Given the description of an element on the screen output the (x, y) to click on. 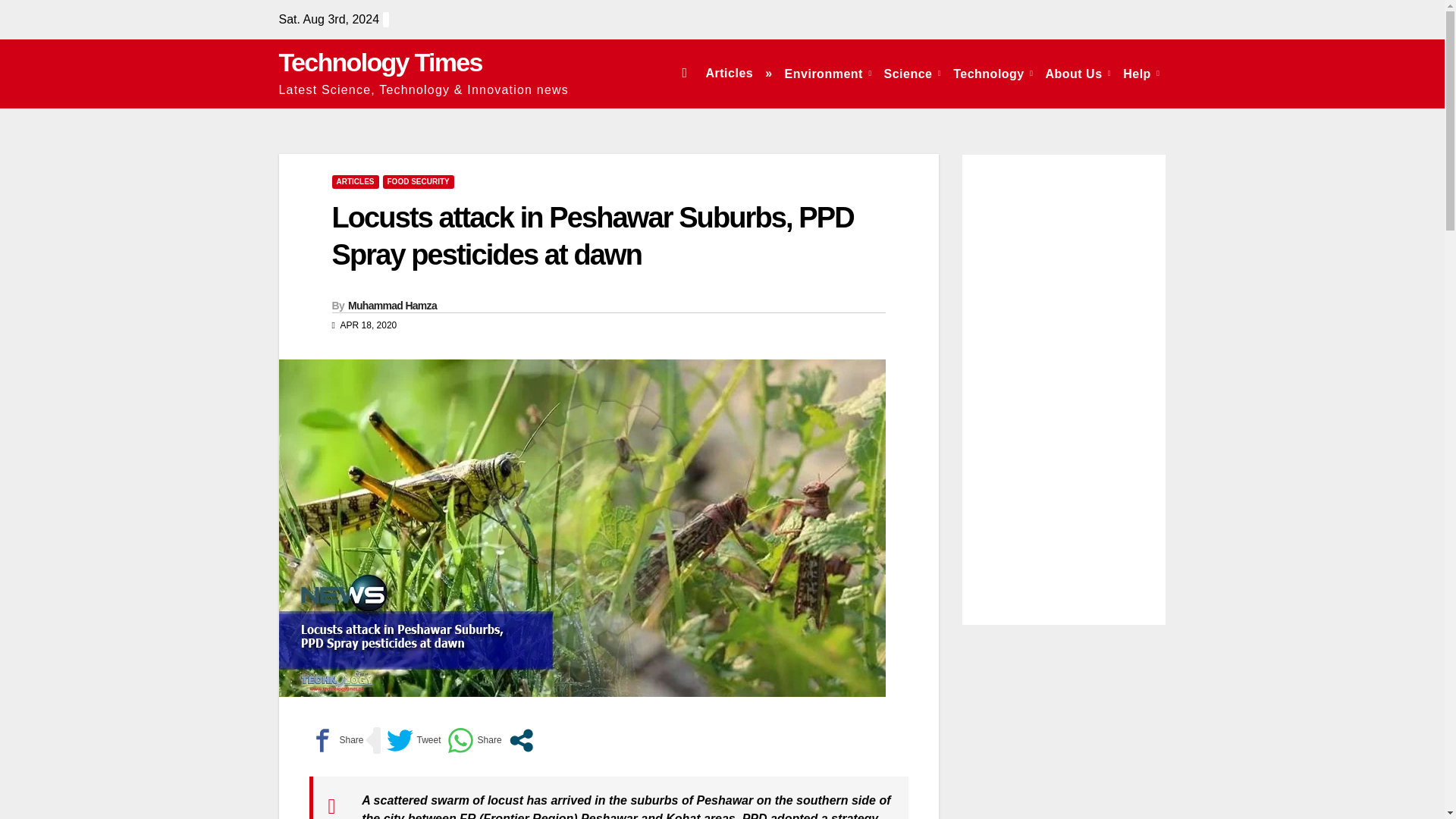
Technology Times (380, 61)
Environment (827, 73)
Science (912, 73)
Environment (827, 73)
About Us (1077, 73)
Technology (993, 73)
Technology (993, 73)
Science (912, 73)
